Given the description of an element on the screen output the (x, y) to click on. 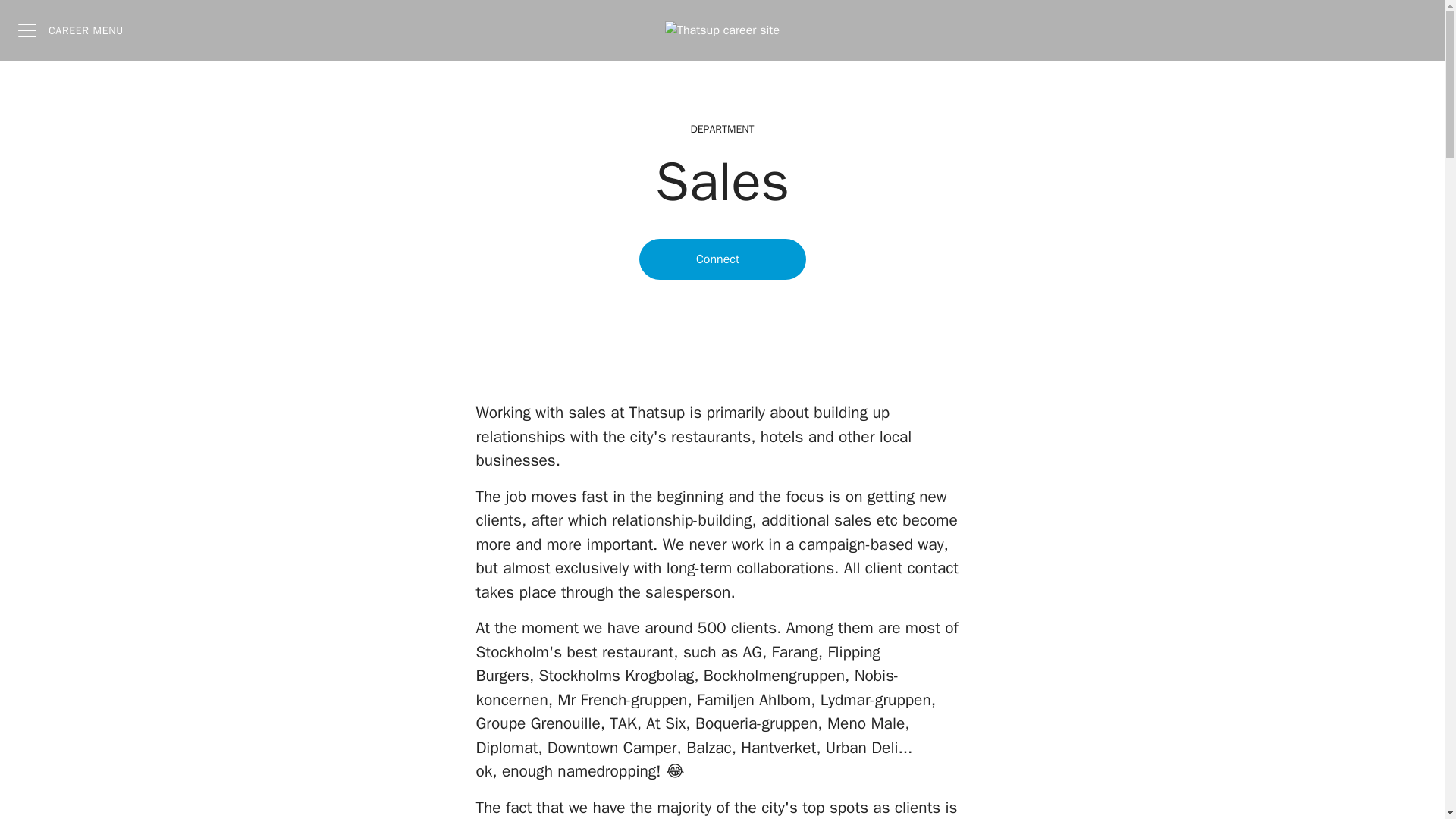
CAREER MENU (70, 30)
Share page (1414, 30)
Career menu (70, 30)
Connect (722, 259)
